Given the description of an element on the screen output the (x, y) to click on. 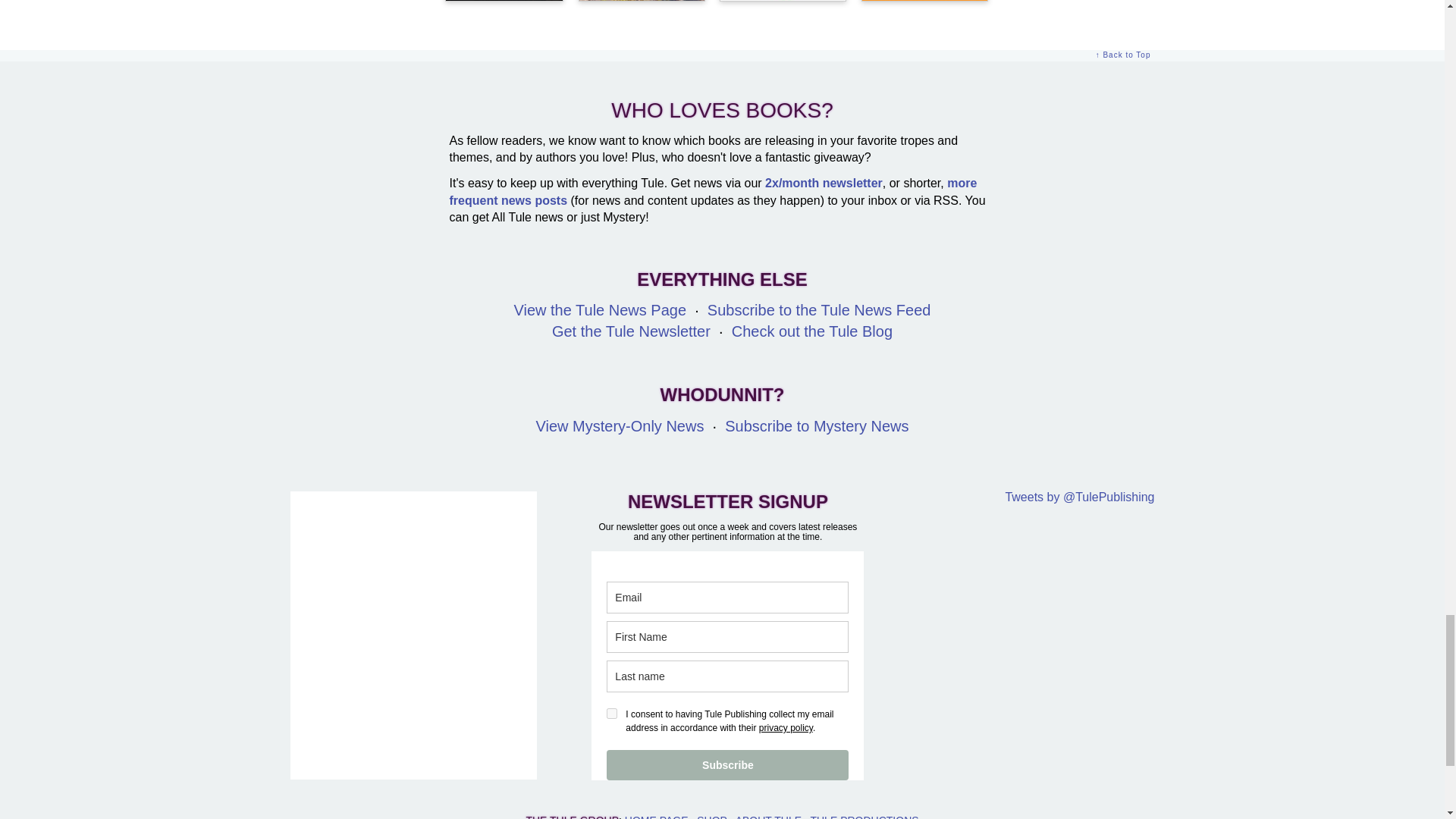
on (612, 713)
